Given the description of an element on the screen output the (x, y) to click on. 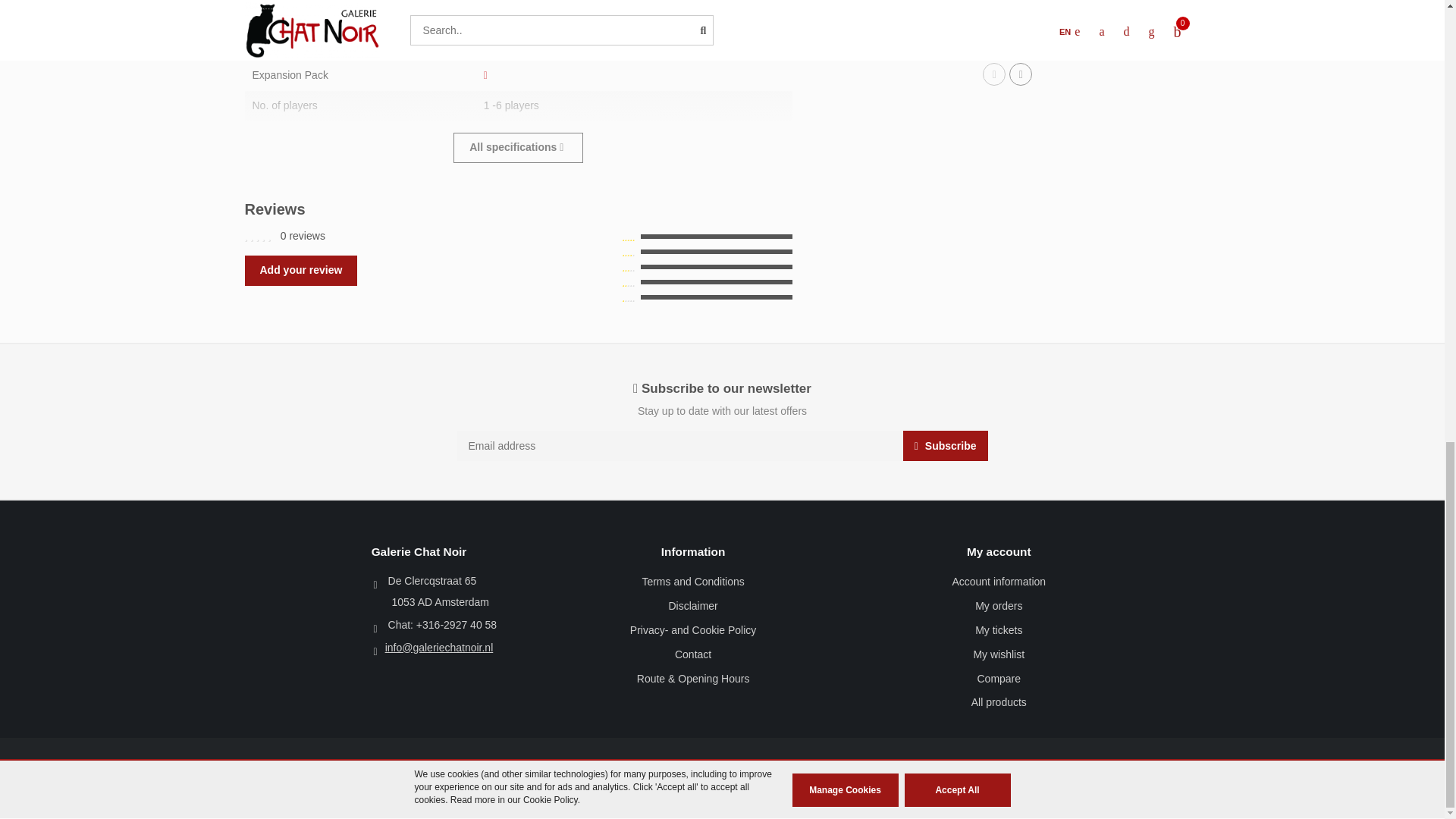
Add your review (300, 270)
All specifications (517, 147)
